Given the description of an element on the screen output the (x, y) to click on. 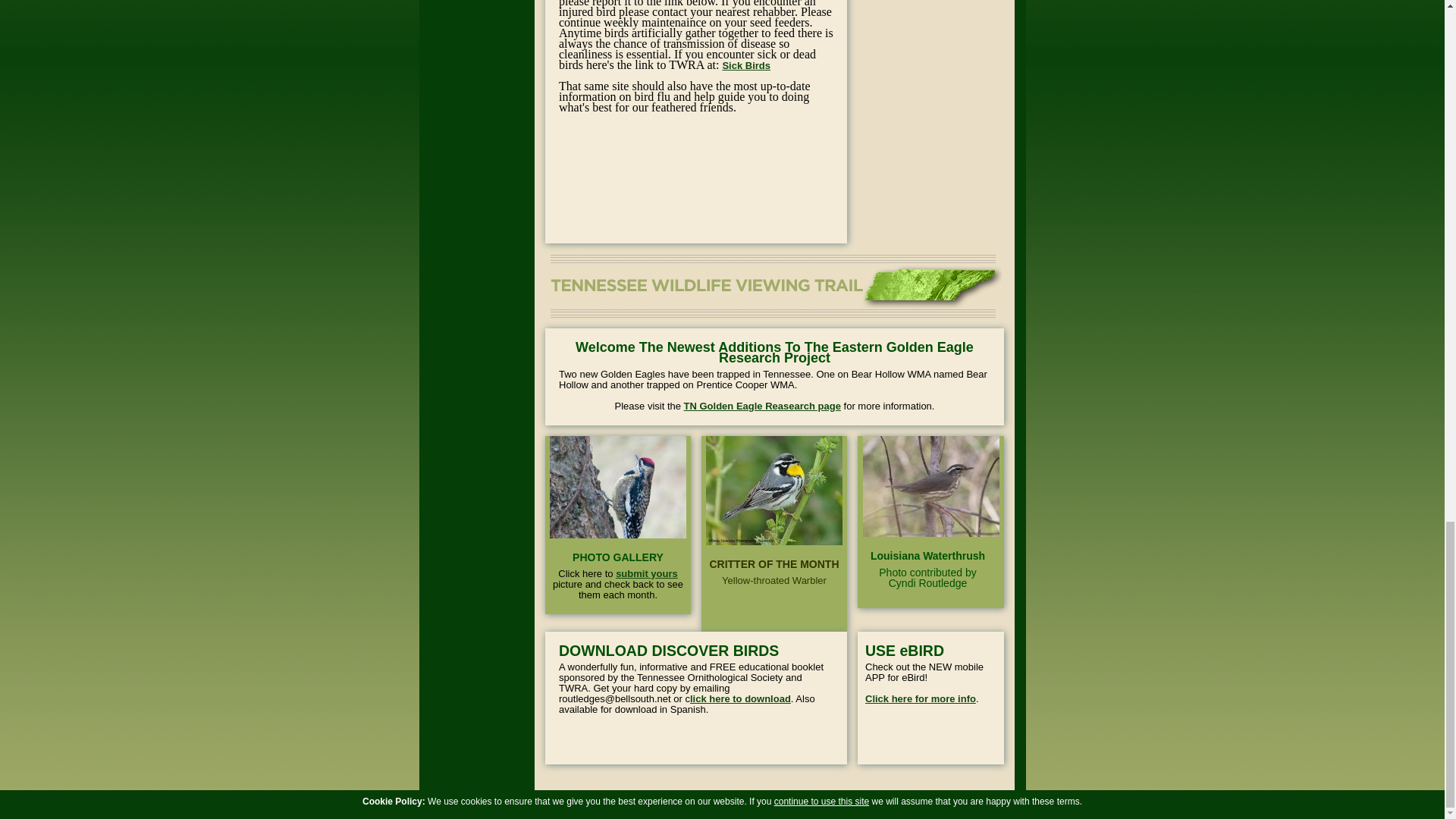
Sick Birds (746, 65)
TN Golden Eagle Reasearch page (762, 405)
submit yours (646, 573)
TN Golden Eagle Research (762, 405)
